Given the description of an element on the screen output the (x, y) to click on. 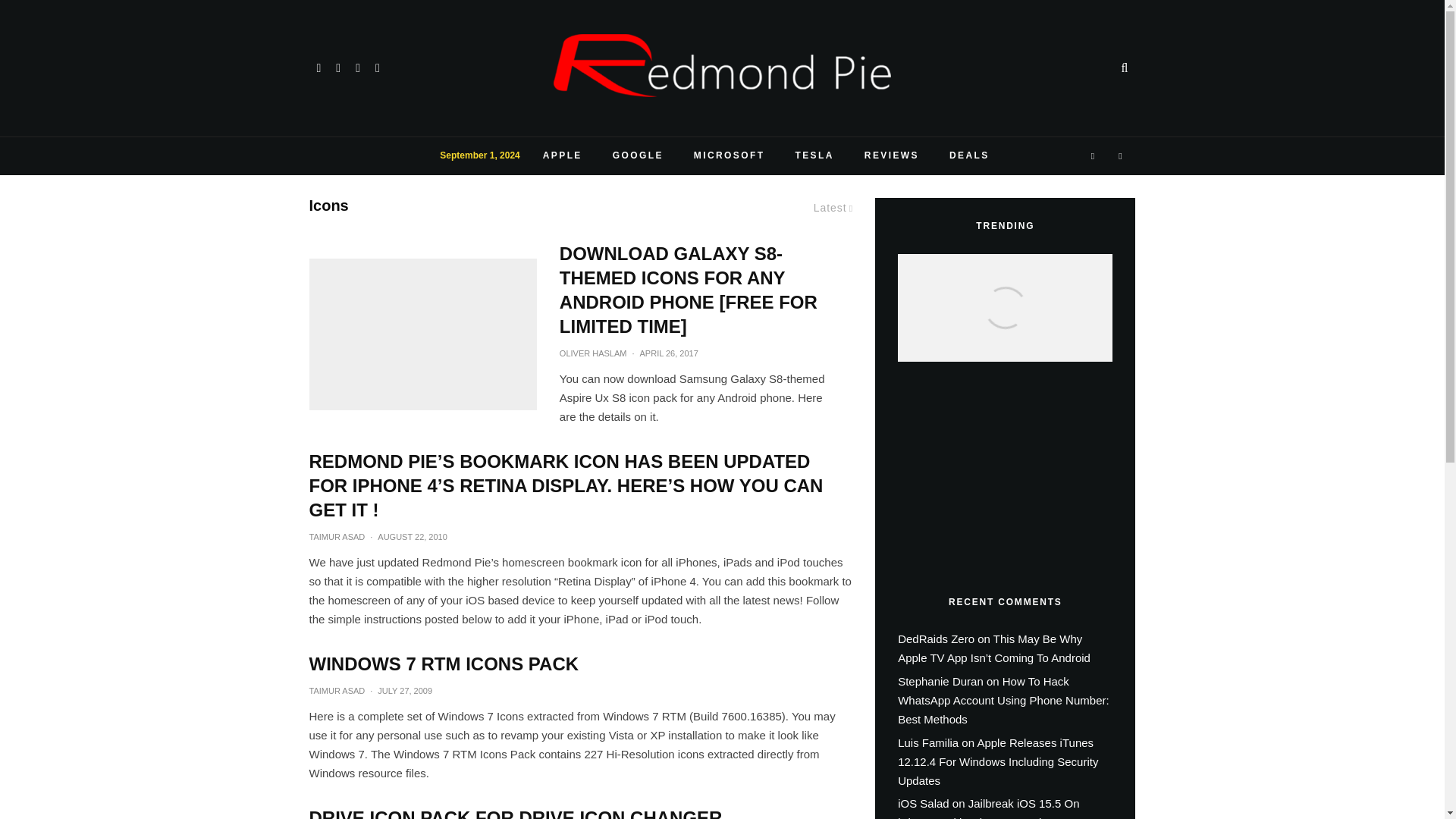
APPLE (561, 156)
TESLA (813, 156)
GOOGLE (637, 156)
MICROSOFT (729, 156)
